Given the description of an element on the screen output the (x, y) to click on. 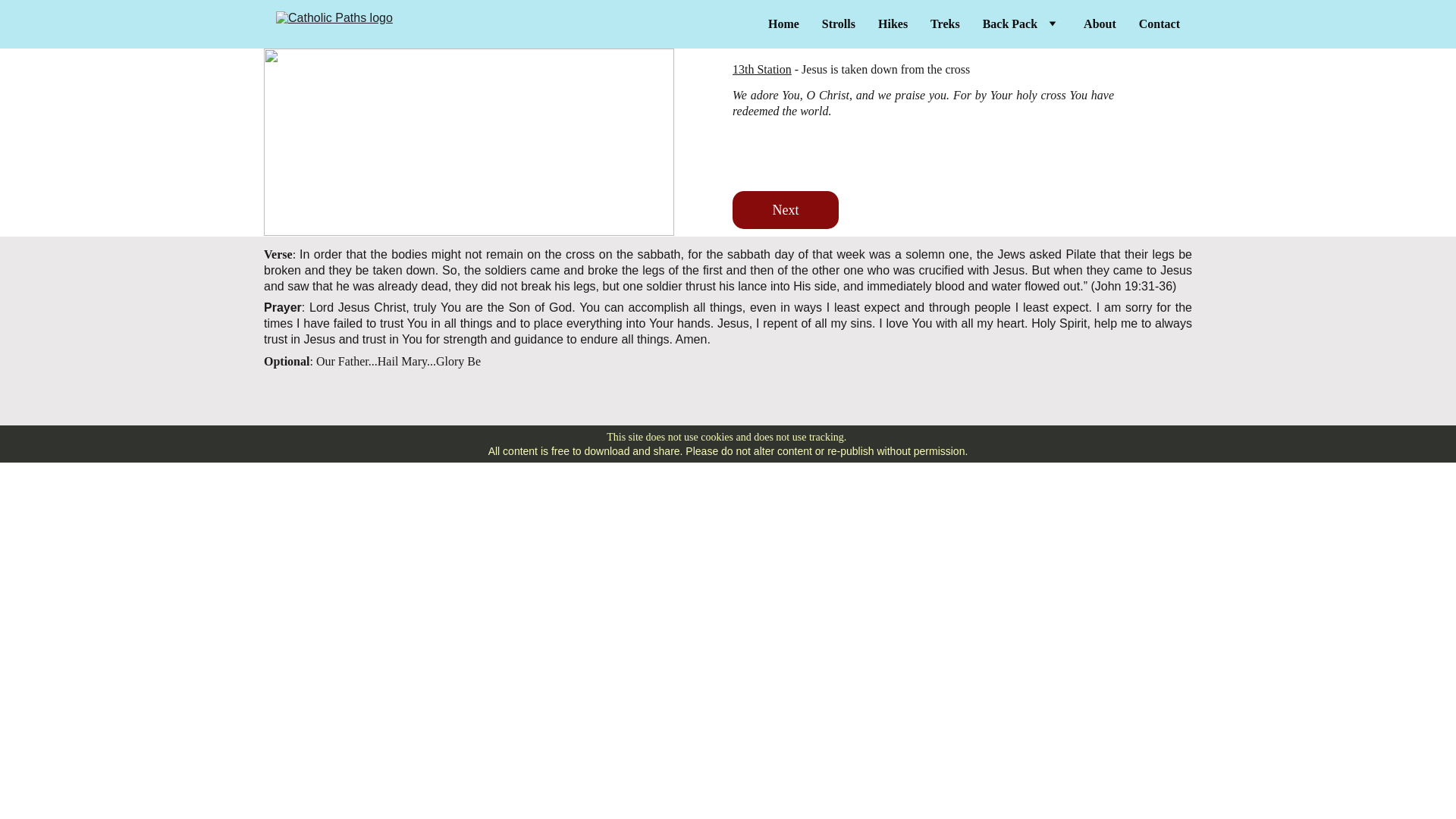
About (1099, 24)
Contact (1158, 24)
Hikes (892, 24)
Next (785, 209)
Home (783, 24)
Strolls (839, 24)
Treks (944, 24)
